Given the description of an element on the screen output the (x, y) to click on. 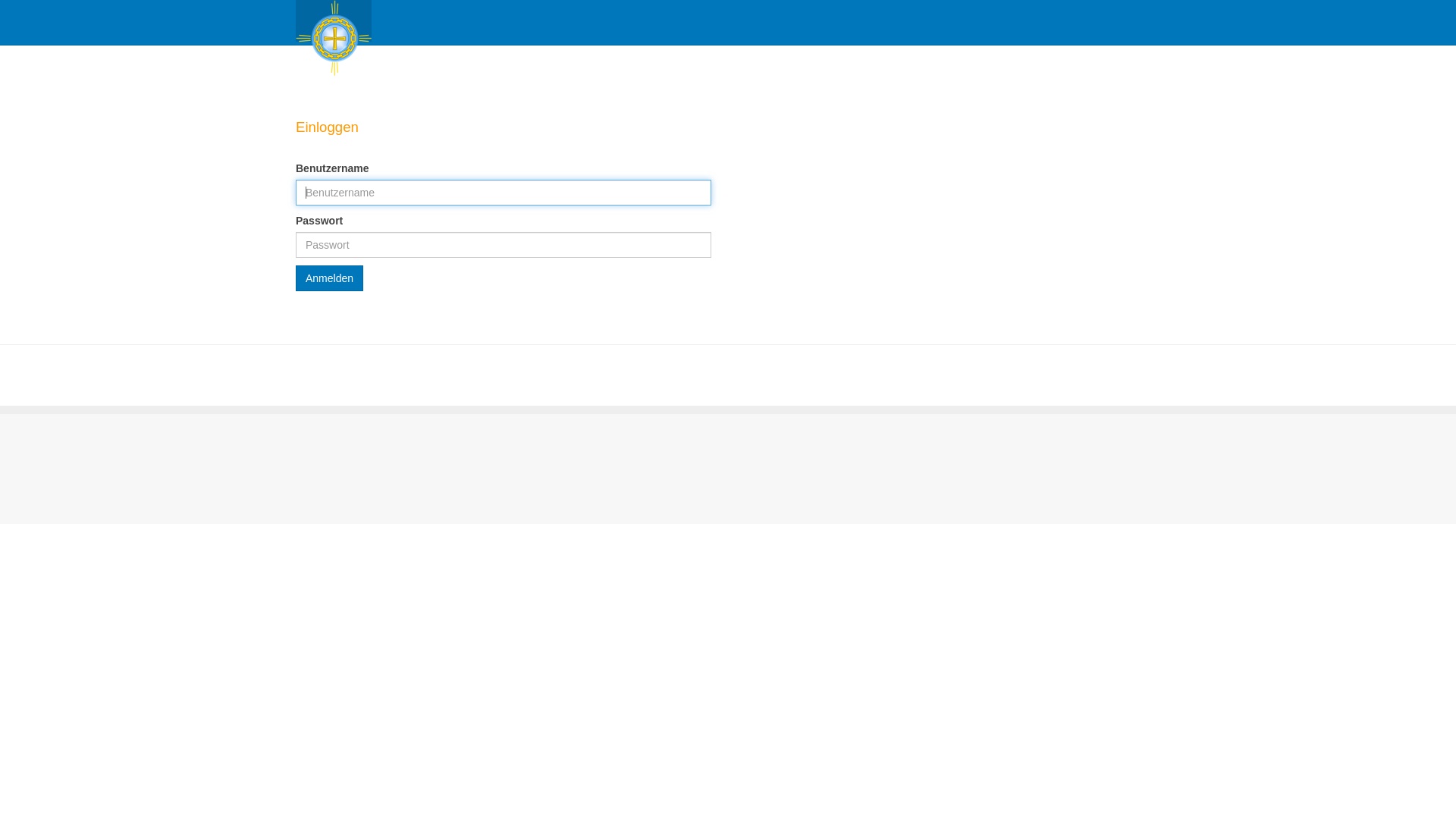
Benedicite Anmeldungen Element type: hover (333, 20)
Anmelden Element type: text (329, 278)
